Given the description of an element on the screen output the (x, y) to click on. 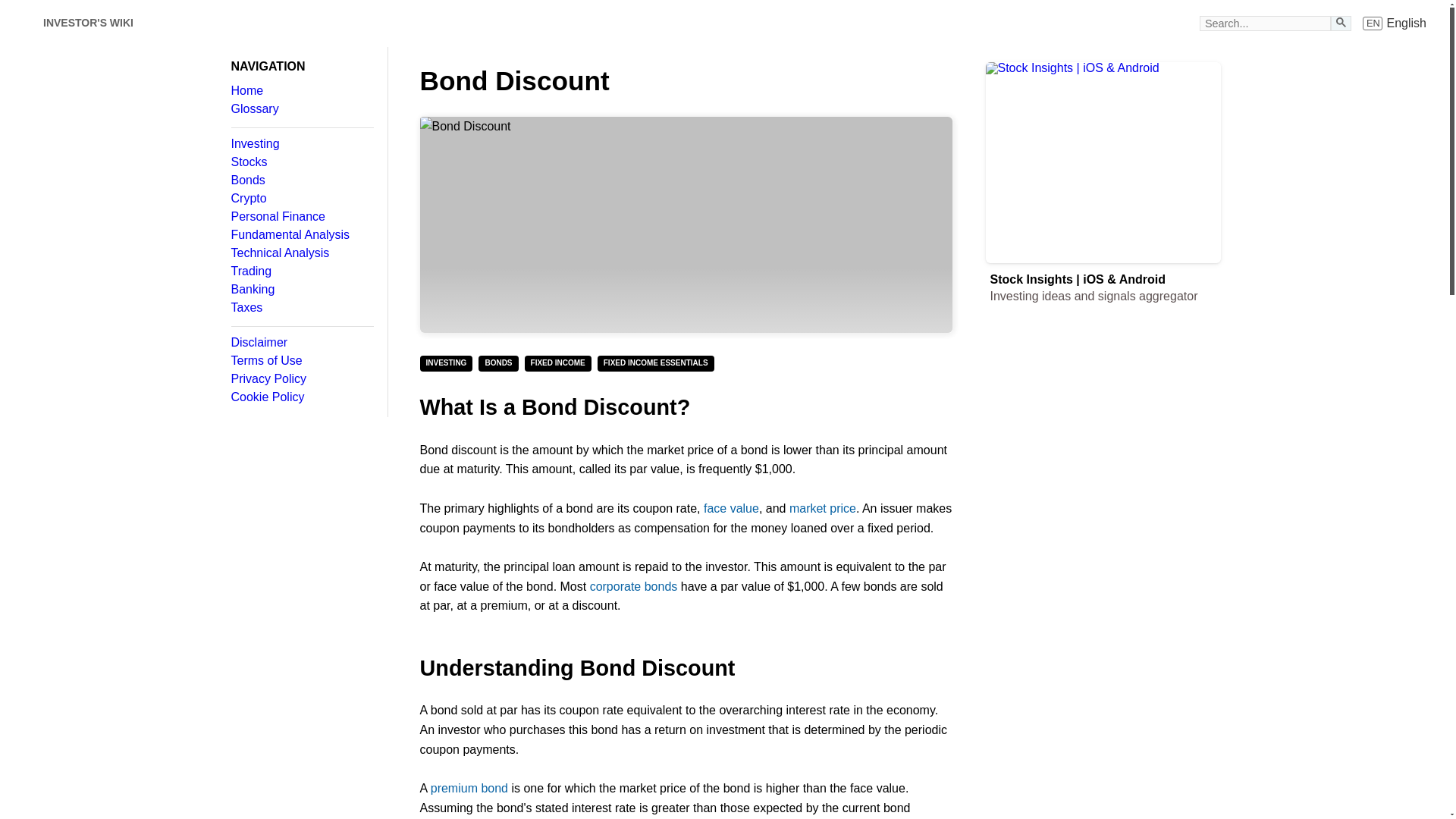
Search (1394, 23)
Taxes (1340, 23)
Search (301, 307)
Home (1340, 22)
Disclaimer (301, 91)
Glossary (301, 342)
Privacy Policy (301, 109)
Investing (301, 378)
Personal Finance (301, 143)
Bond Discount (301, 216)
Stocks (686, 224)
Terms of Use (301, 162)
Trading (301, 360)
Fundamental Analysis (301, 271)
